Given the description of an element on the screen output the (x, y) to click on. 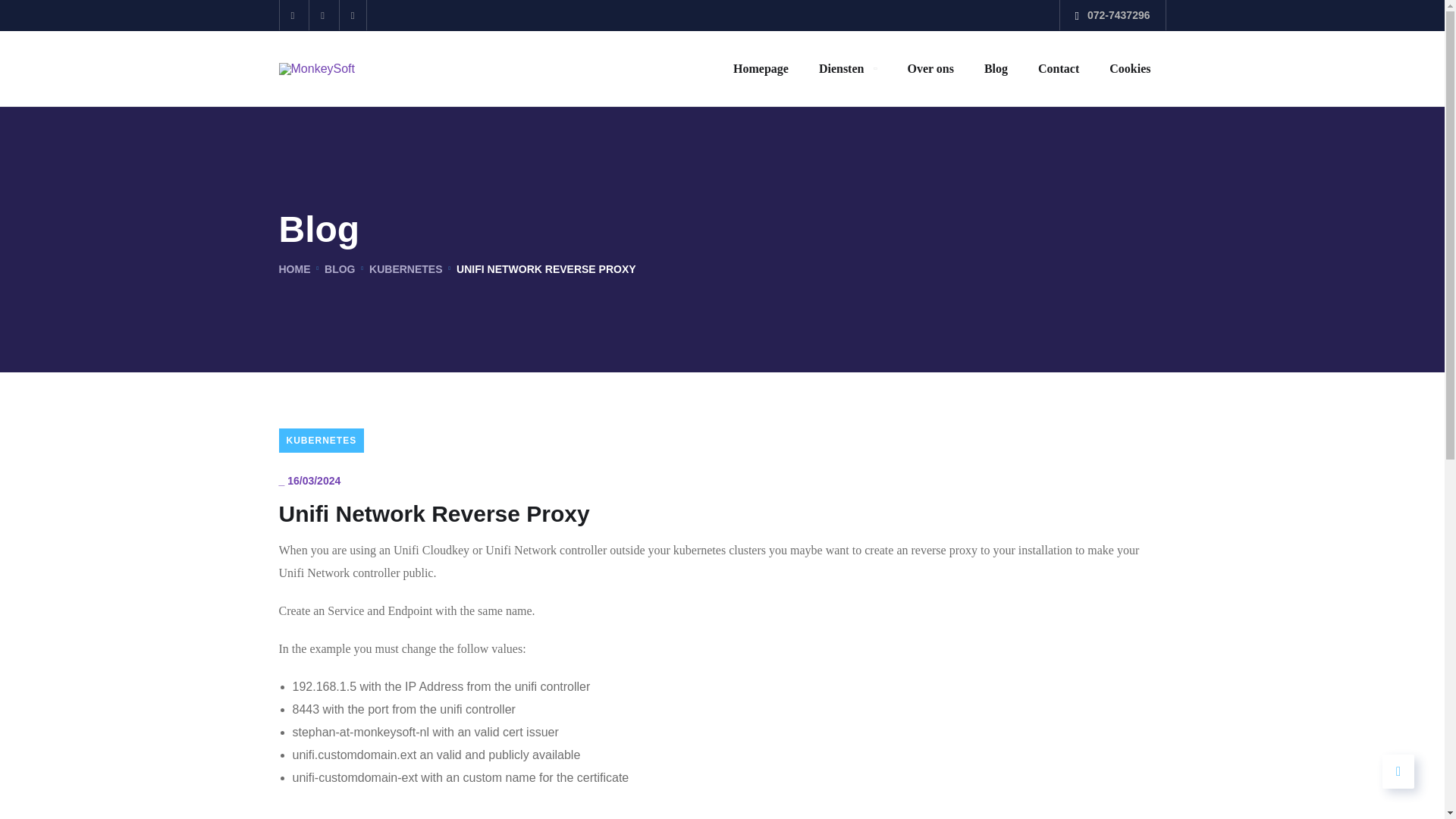
072-7437296 (1118, 15)
HOME (295, 268)
KUBERNETES (405, 268)
BLOG (339, 268)
KUBERNETES (322, 440)
